Given the description of an element on the screen output the (x, y) to click on. 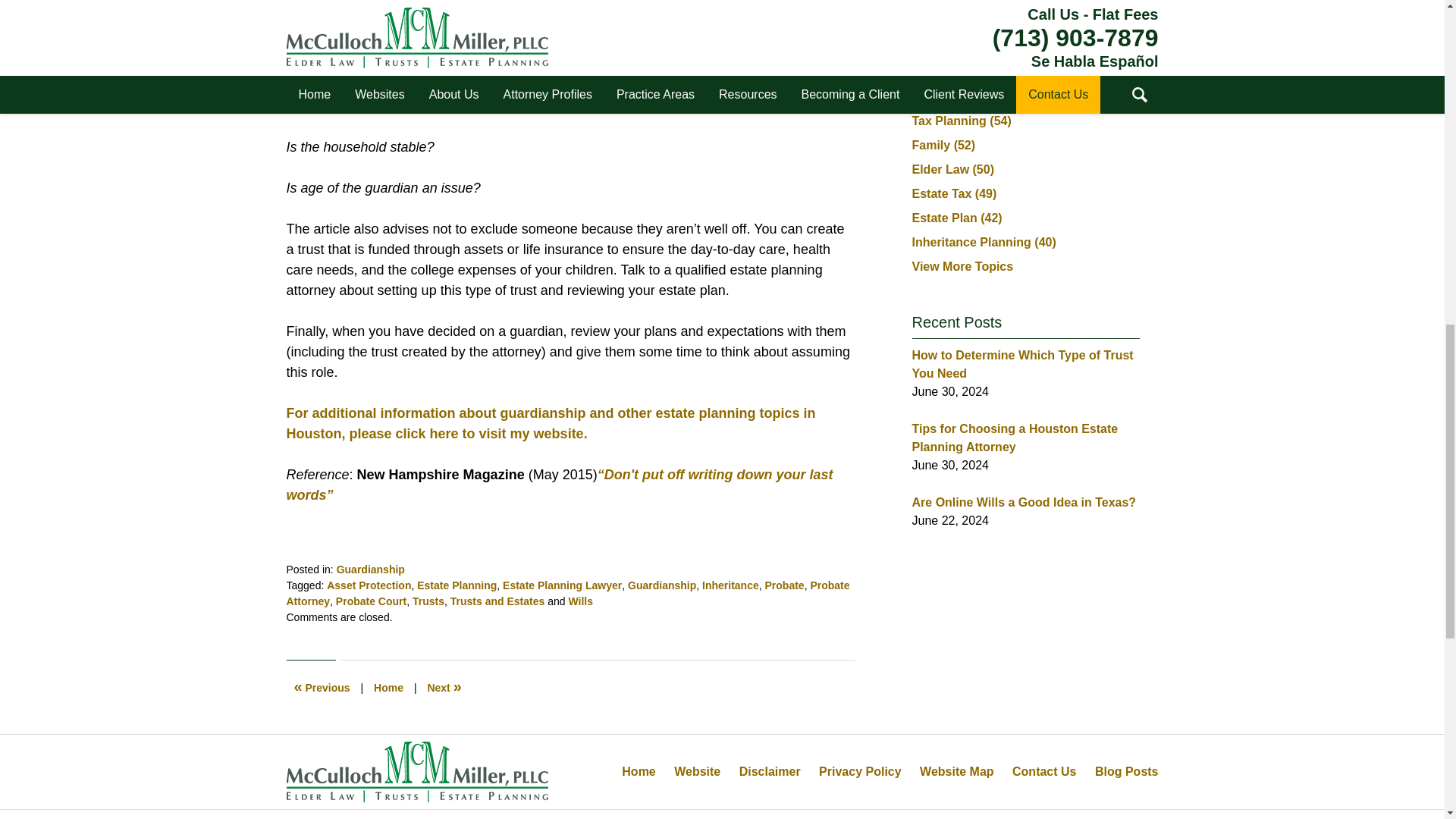
View all posts tagged with Asset Protection (368, 585)
View all posts tagged with Guardianship (661, 585)
Probate (785, 585)
Inheritance (729, 585)
View all posts tagged with Trusts (428, 601)
View all posts tagged with Inheritance (729, 585)
View all posts tagged with Estate Planning Lawyer (561, 585)
View all posts tagged with Probate Attorney (568, 593)
Estate Planning (456, 585)
Team Houston:  Who Are Your Estate Planning Team Mates? (322, 687)
Estate Planning Lawyer (561, 585)
View all posts tagged with Estate Planning (456, 585)
Houston Estate Planning and Elder Law (550, 423)
View all posts tagged with Probate (785, 585)
